Given the description of an element on the screen output the (x, y) to click on. 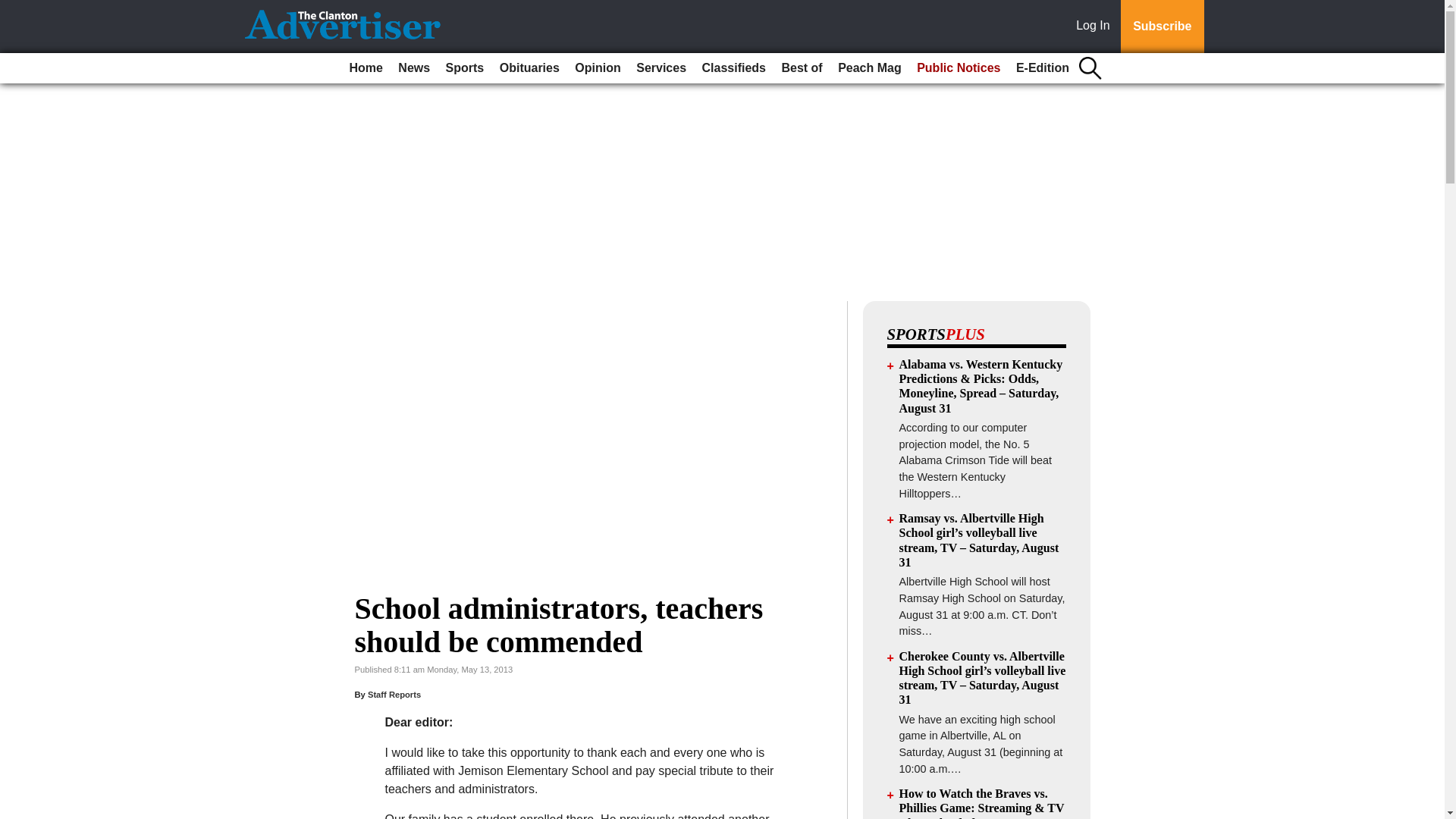
Public Notices (958, 68)
Go (13, 9)
Sports (464, 68)
Log In (1095, 26)
Staff Reports (394, 694)
Best of (801, 68)
Obituaries (529, 68)
News (413, 68)
Subscribe (1162, 26)
Home (365, 68)
